Given the description of an element on the screen output the (x, y) to click on. 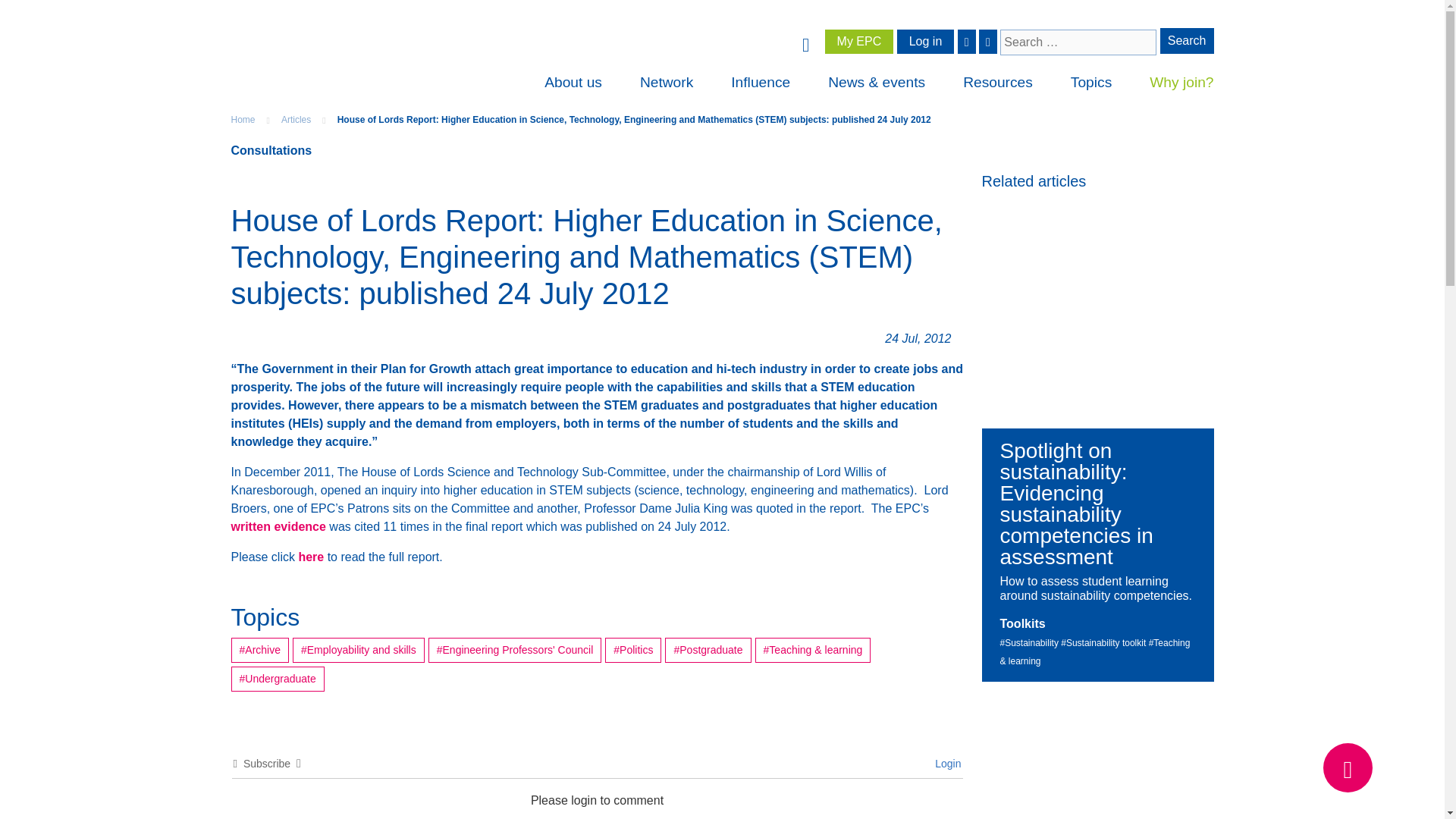
Articles (296, 119)
Search (1187, 40)
Resources (997, 83)
Log in (925, 41)
My EPC (859, 41)
Articles (296, 119)
Engineering Professors Council (805, 40)
Why join? (1181, 83)
Home (242, 119)
About us (573, 83)
